Given the description of an element on the screen output the (x, y) to click on. 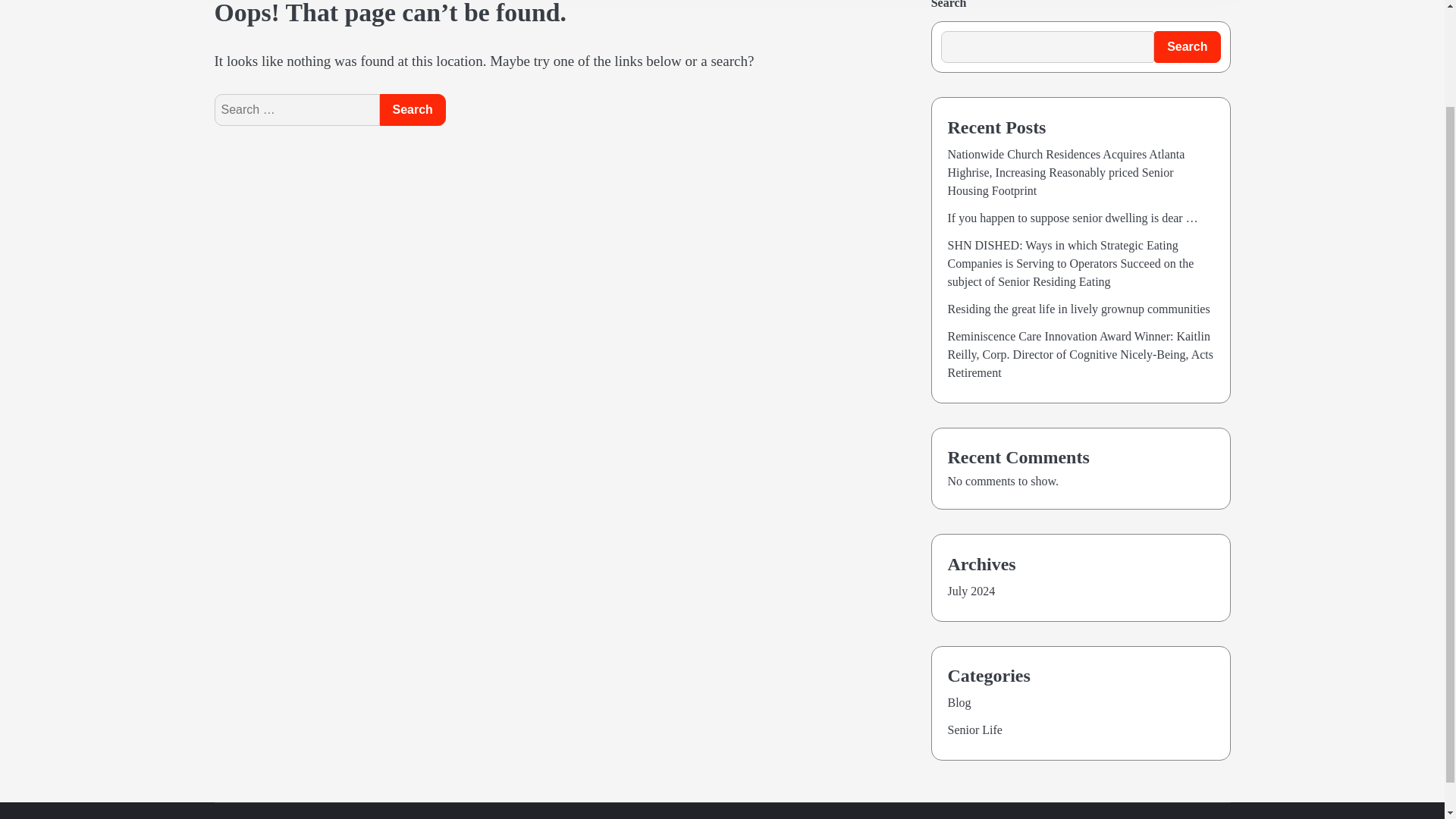
Search (411, 110)
Search (411, 110)
Search (1187, 47)
Search (411, 110)
Blog (959, 702)
Residing the great life in lively grownup communities (1078, 308)
Senior Life (975, 729)
July 2024 (971, 590)
